Given the description of an element on the screen output the (x, y) to click on. 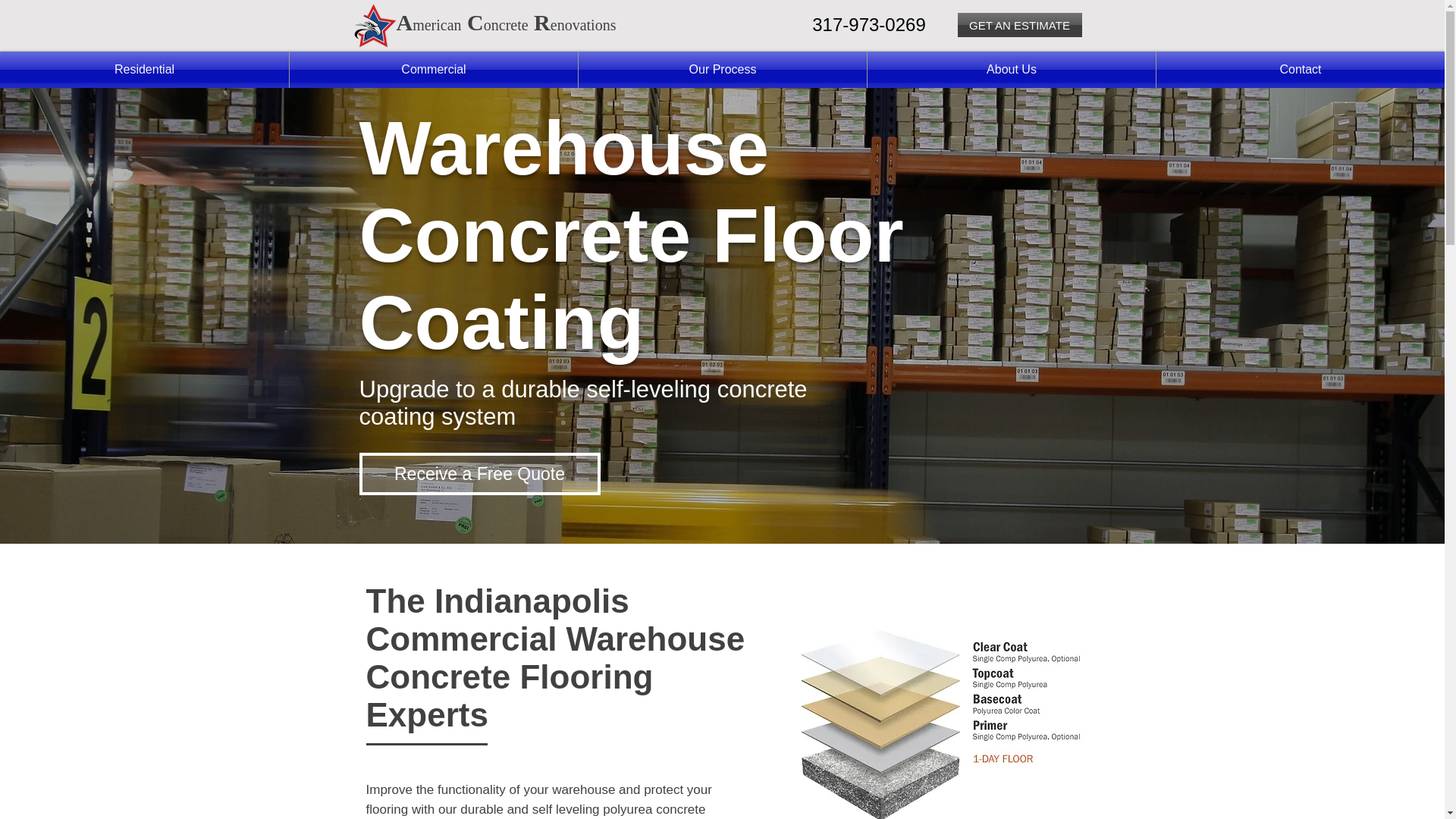
Our Process (722, 69)
GET AN ESTIMATE (1018, 24)
317-973-0269 (868, 24)
Receive a Free Quote (479, 473)
About Us (1011, 69)
